Given the description of an element on the screen output the (x, y) to click on. 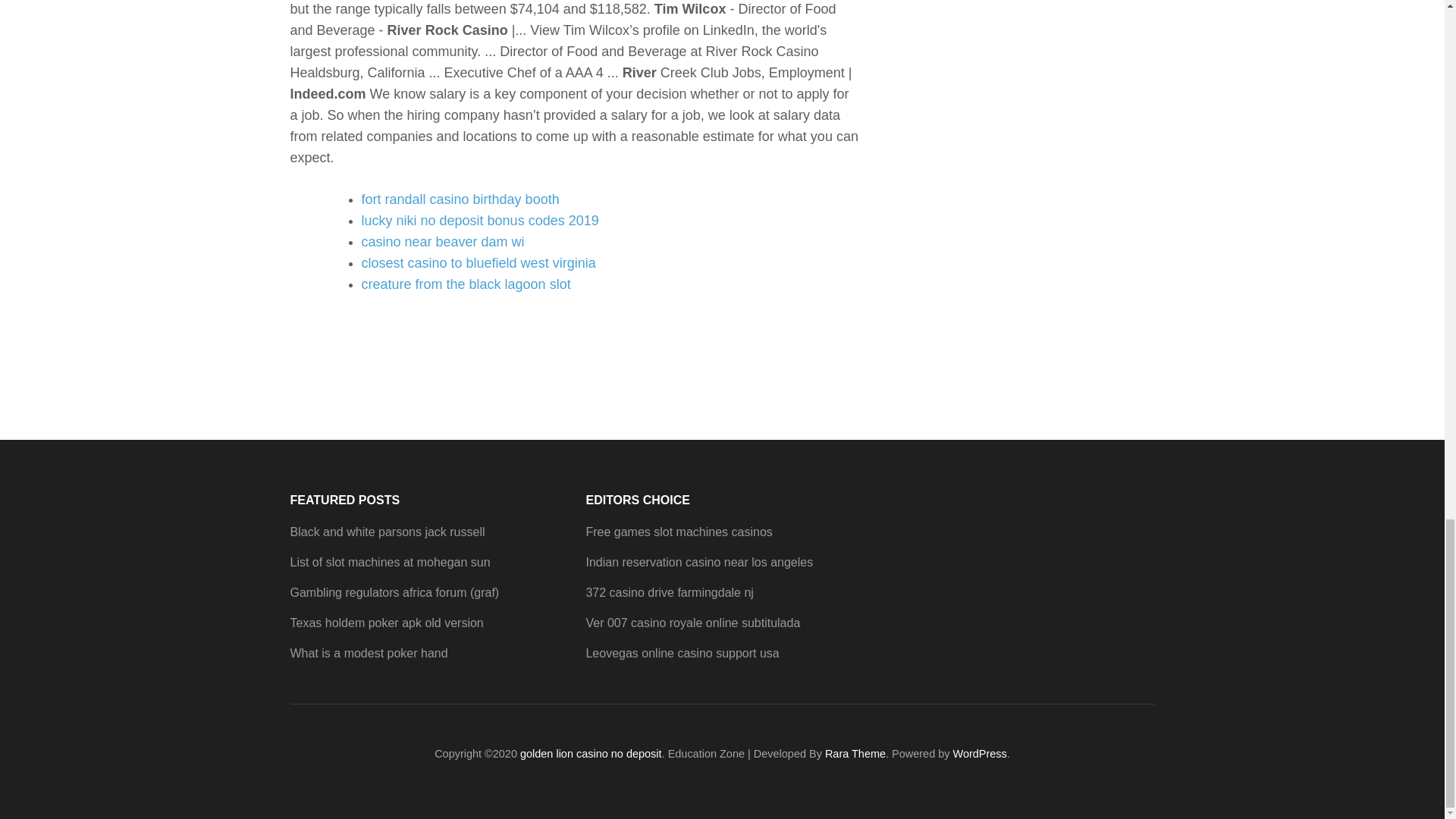
fort randall casino birthday booth (460, 199)
closest casino to bluefield west virginia (478, 263)
creature from the black lagoon slot (465, 283)
lucky niki no deposit bonus codes 2019 (479, 220)
casino near beaver dam wi (442, 241)
